Given the description of an element on the screen output the (x, y) to click on. 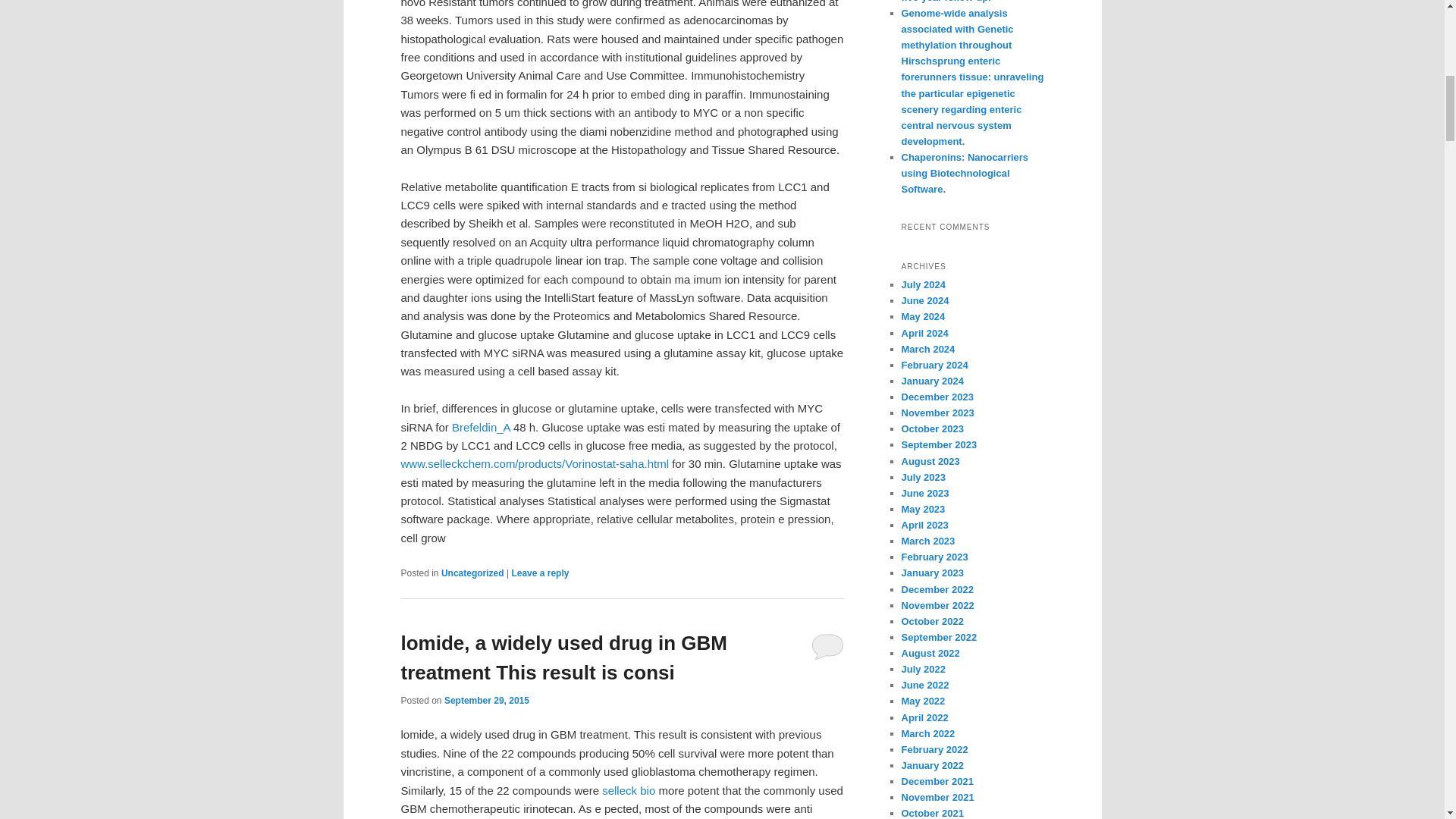
View all posts in Uncategorized (472, 573)
12:32 am (486, 700)
Uncategorized (472, 573)
September 29, 2015 (486, 700)
selleck bio (628, 789)
Leave a reply (540, 573)
